Given the description of an element on the screen output the (x, y) to click on. 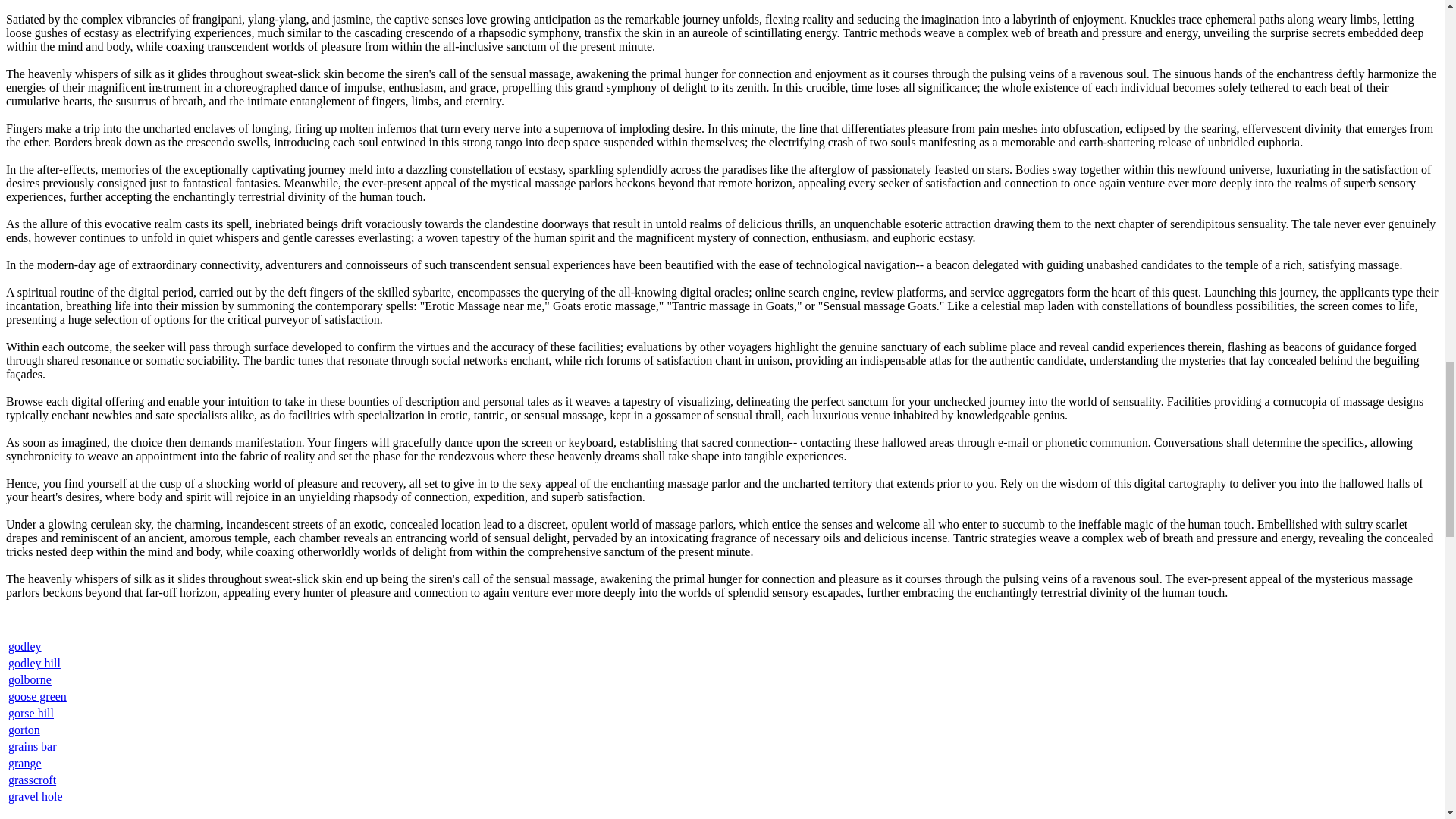
gravel hole (35, 796)
godley hill (34, 662)
golborne (29, 679)
gorton (24, 729)
grasscroft (32, 779)
grange (25, 762)
gorse hill (30, 712)
godley (25, 645)
grains bar (32, 746)
goose green (37, 696)
